Given the description of an element on the screen output the (x, y) to click on. 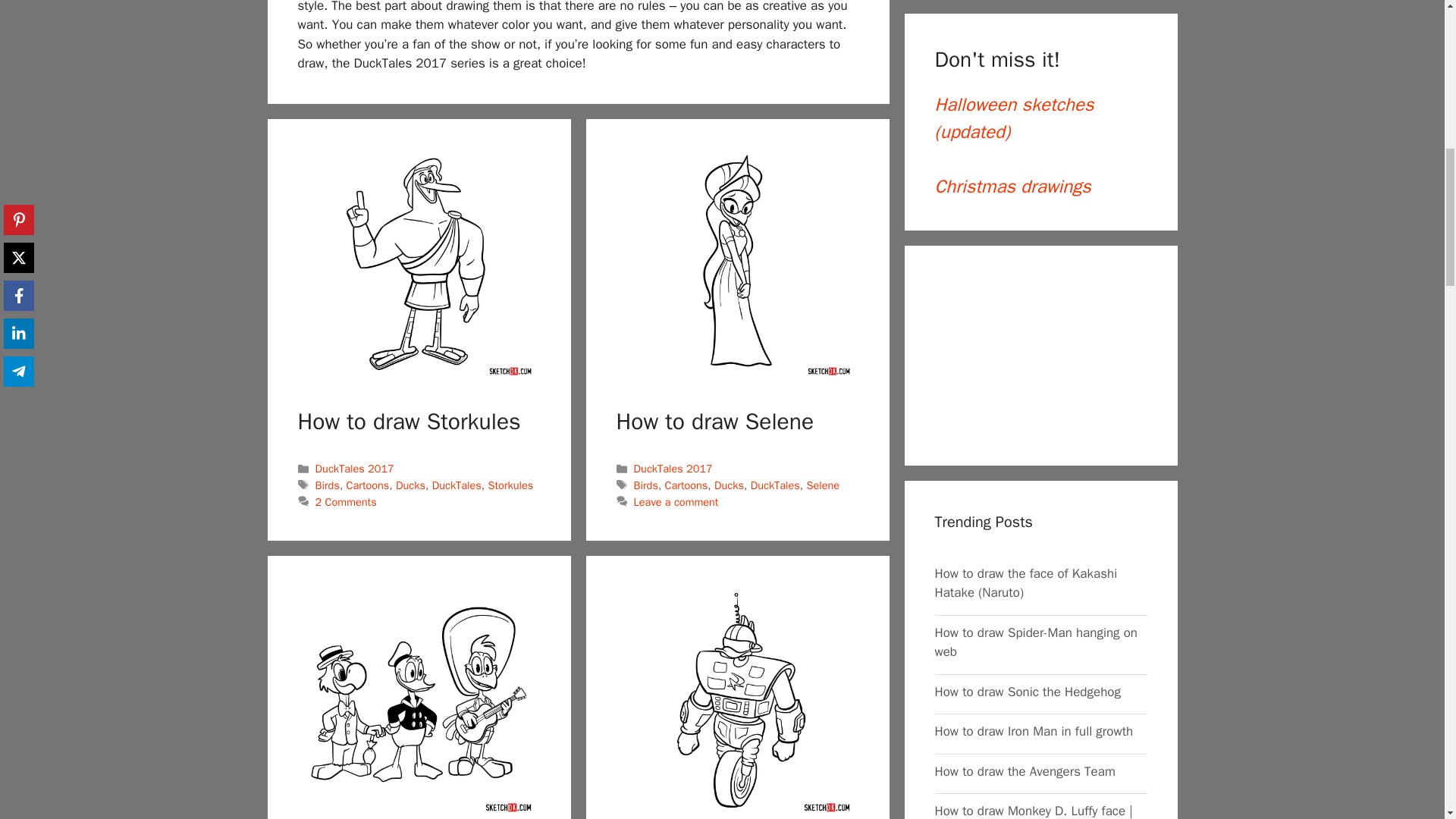
How to draw Selene (736, 262)
How to draw Gizmo Duck (736, 700)
How to draw Storkules (418, 262)
